Given the description of an element on the screen output the (x, y) to click on. 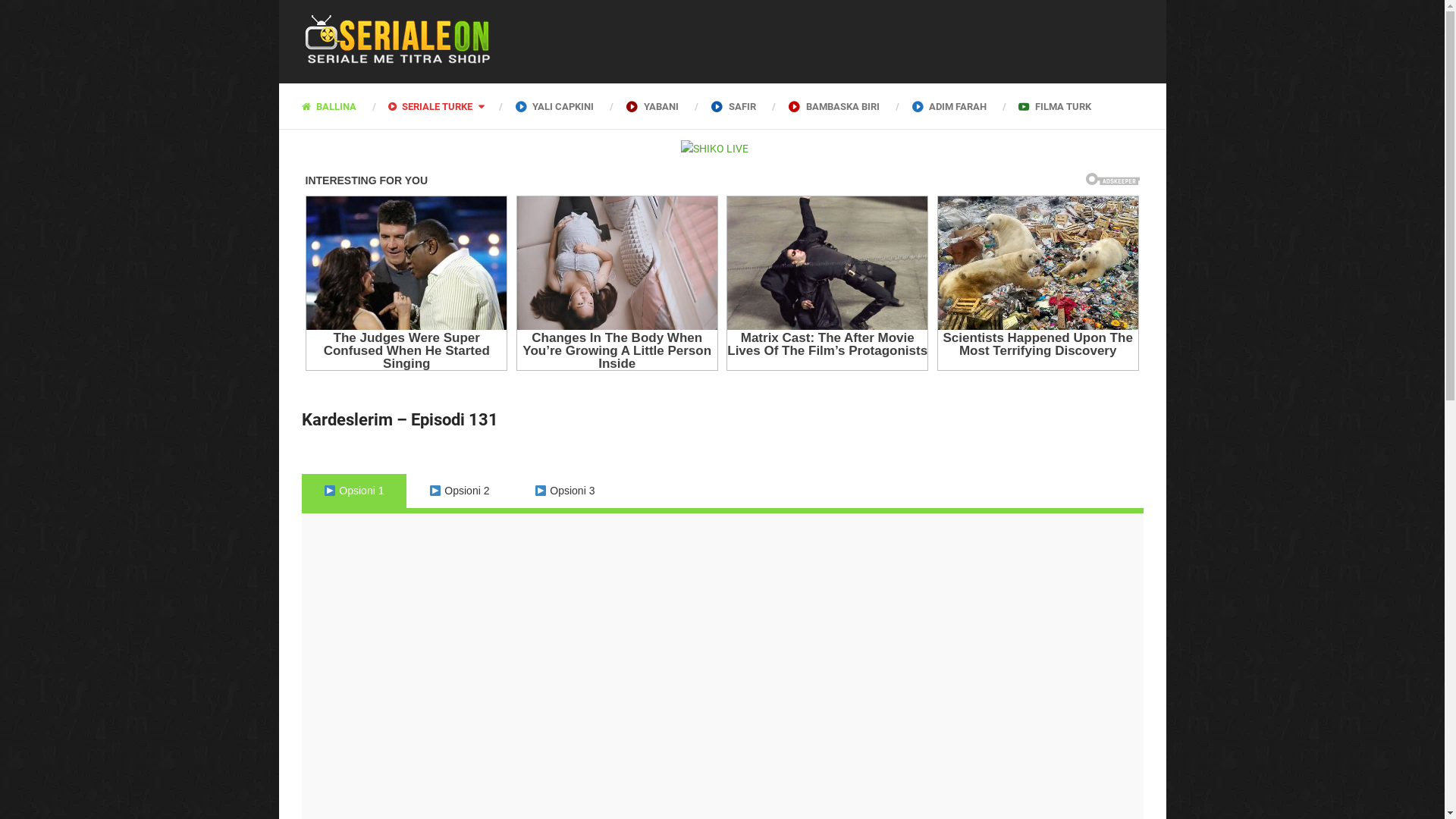
YALI CAPKINI Element type: text (554, 105)
YABANI Element type: text (651, 105)
FILMA TURK Element type: text (1054, 105)
ADIM FARAH Element type: text (949, 105)
SAFIR Element type: text (732, 105)
BALLINA Element type: text (336, 105)
Opsioni 1 Element type: text (354, 490)
SERIALE TURKE Element type: text (434, 105)
Opsioni 2 Element type: text (458, 490)
BAMBASKA BIRI Element type: text (833, 105)
Opsioni 3 Element type: text (564, 490)
